Given the description of an element on the screen output the (x, y) to click on. 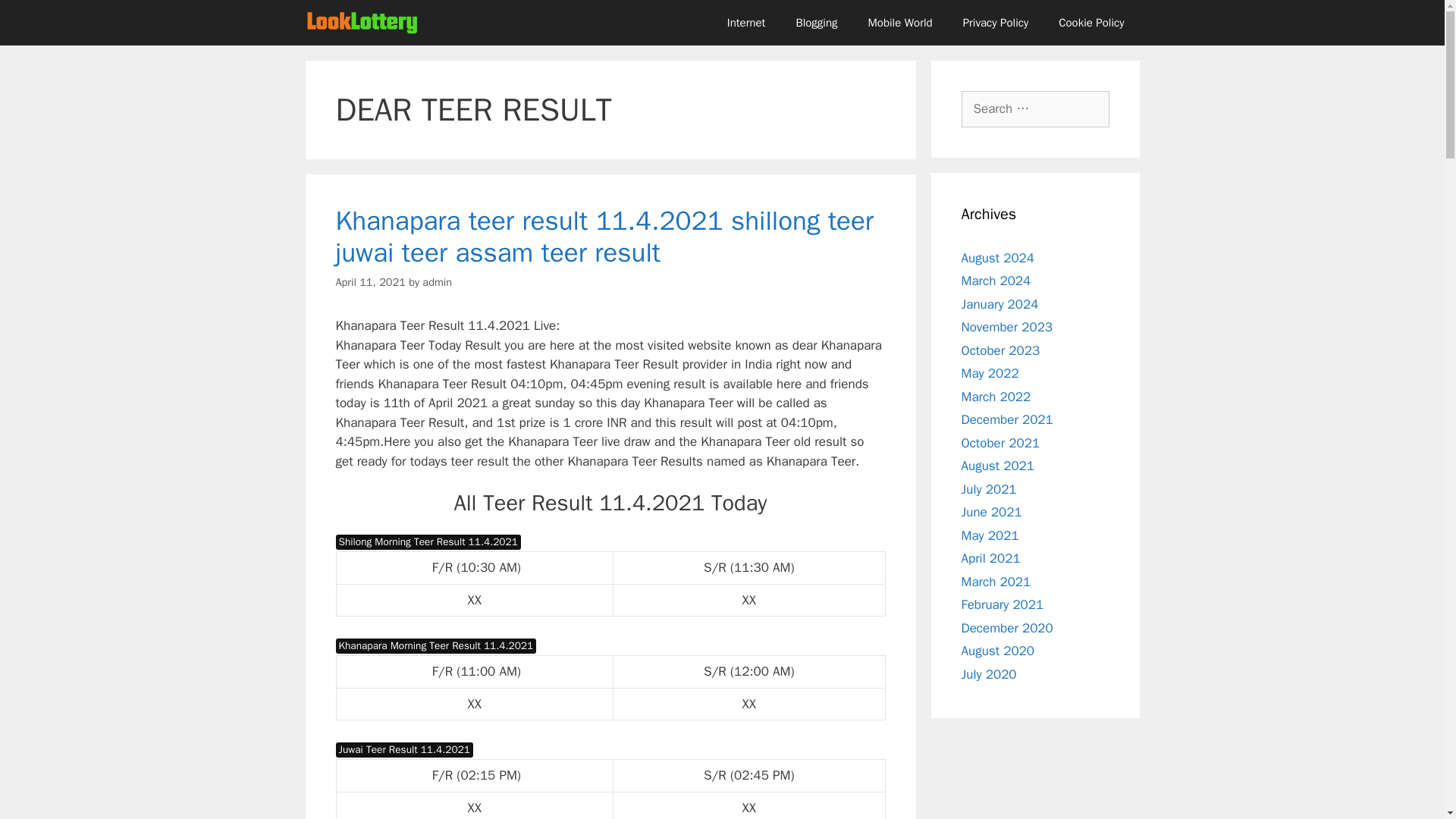
February 2021 (1001, 604)
October 2021 (1000, 442)
December 2021 (1006, 419)
April 2021 (990, 558)
admin (436, 282)
August 2021 (996, 465)
October 2023 (1000, 350)
June 2021 (991, 512)
Search (35, 18)
November 2023 (1006, 326)
Search for: (1034, 108)
Internet (745, 22)
Mobile World (900, 22)
